Given the description of an element on the screen output the (x, y) to click on. 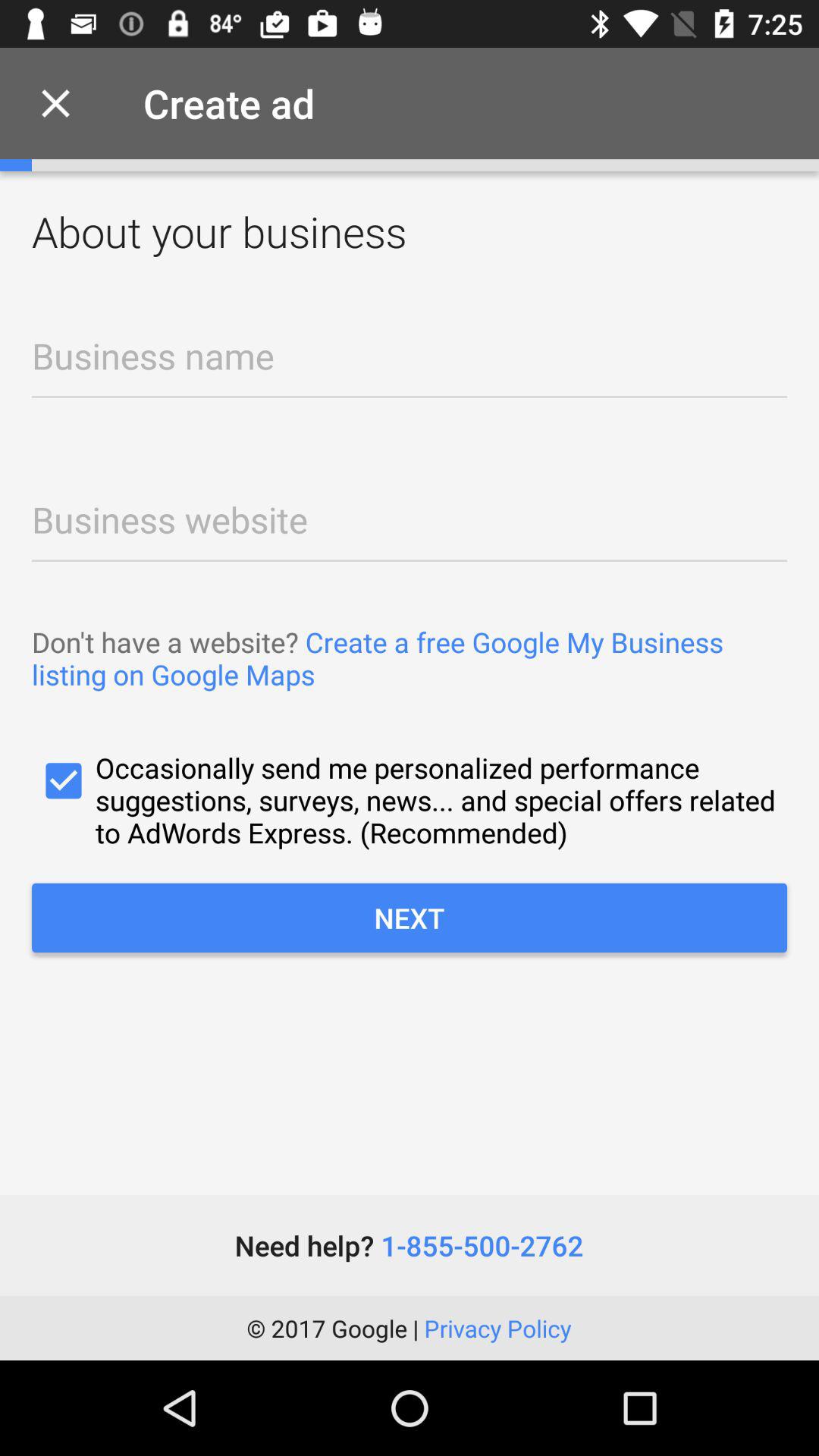
launch don t have item (409, 658)
